Given the description of an element on the screen output the (x, y) to click on. 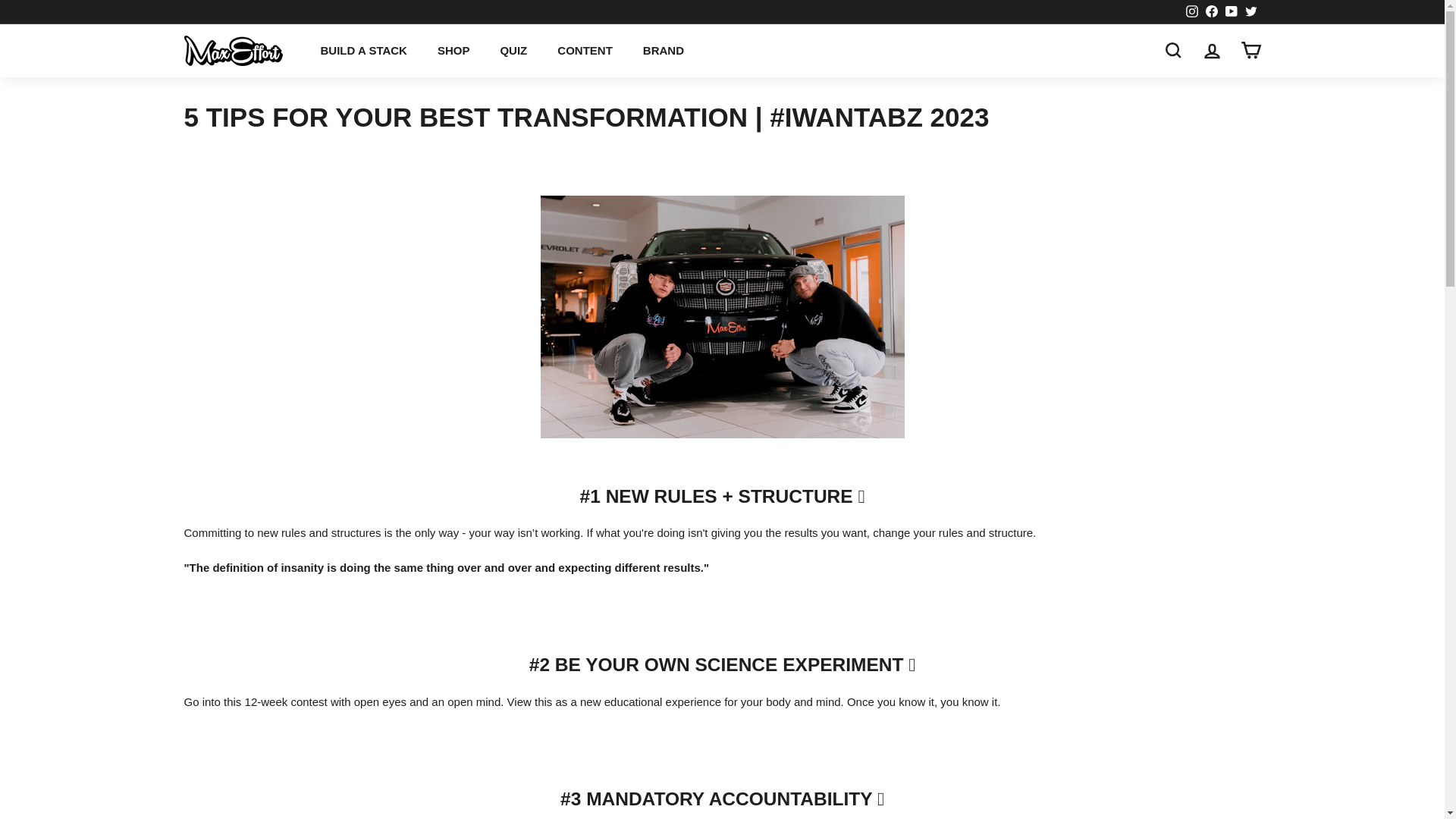
Max Effort Muscle on Facebook (1211, 11)
YouTube (1230, 11)
SHOP (453, 49)
Twitter (1250, 11)
BUILD A STACK (363, 49)
Instagram (1190, 11)
Max Effort Muscle on YouTube (1230, 11)
Max Effort Muscle on Twitter (1250, 11)
Facebook (1211, 11)
Max Effort Muscle on Instagram (1190, 11)
